Given the description of an element on the screen output the (x, y) to click on. 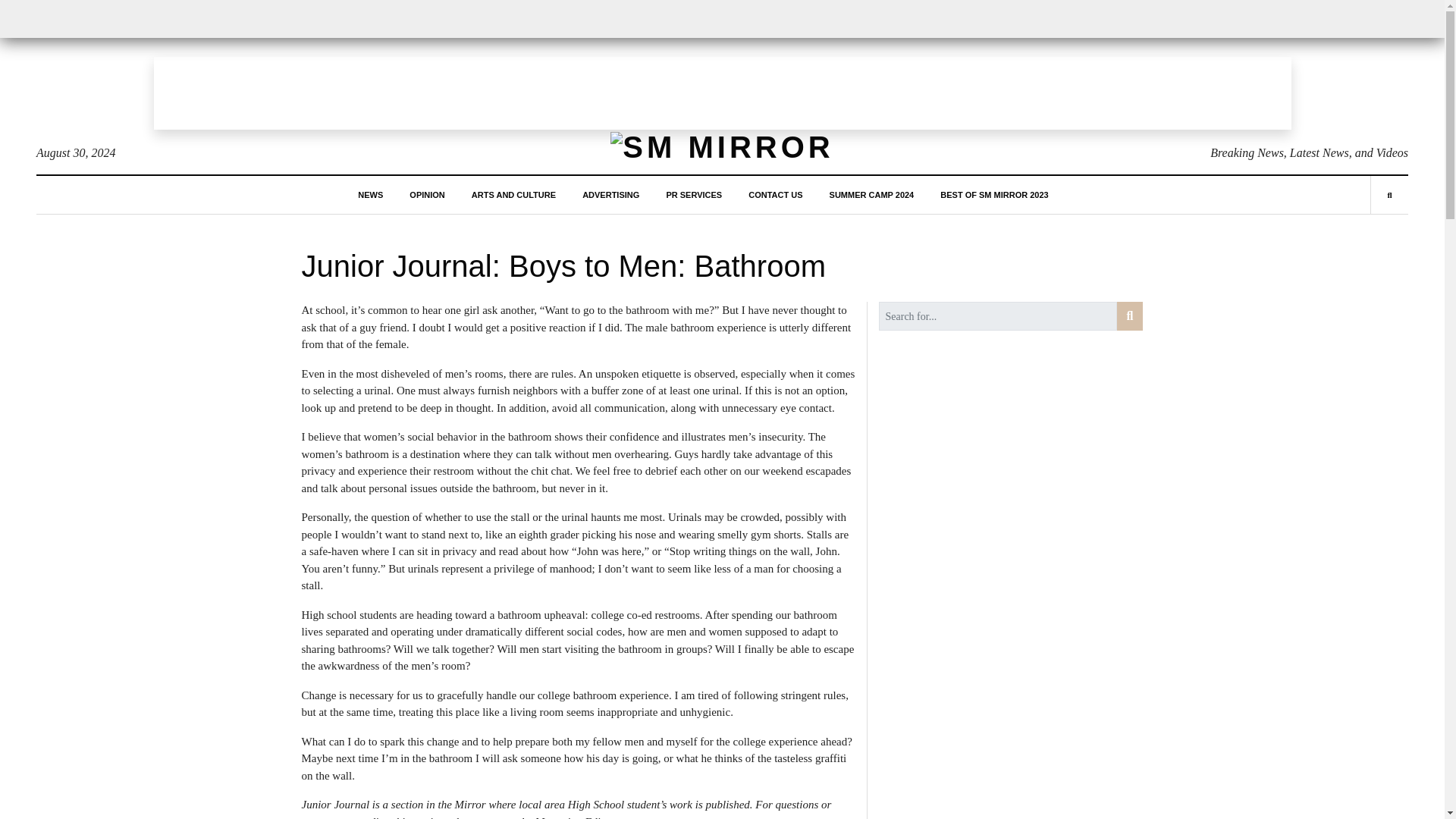
OPINION (426, 194)
BEST OF SM MIRROR 2023 (994, 194)
ADVERTISING (610, 194)
SUMMER CAMP 2024 (871, 194)
ARTS AND CULTURE (513, 194)
CONTACT US (775, 194)
PR SERVICES (693, 194)
